Given the description of an element on the screen output the (x, y) to click on. 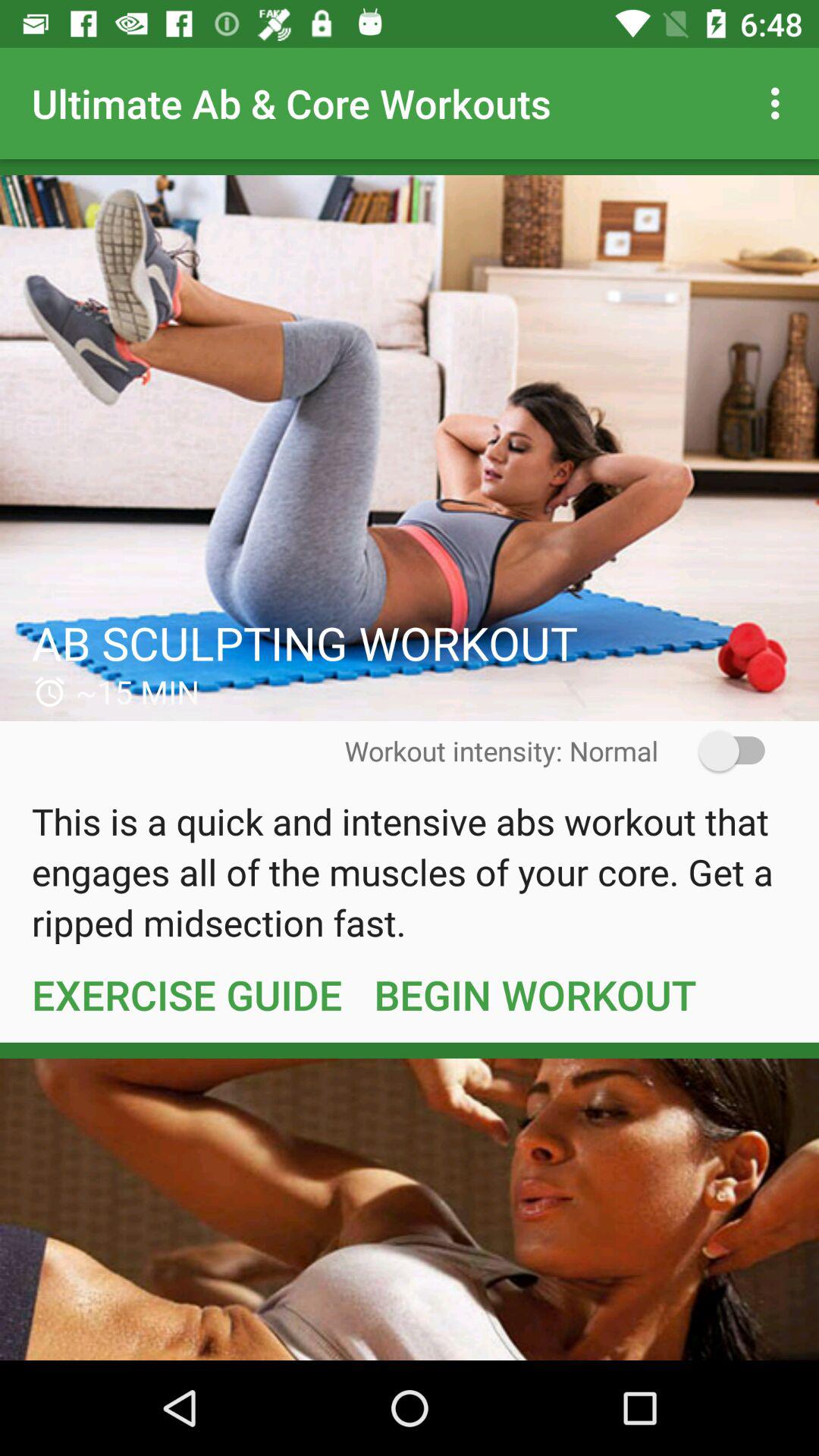
workout intensity switch (722, 750)
